Given the description of an element on the screen output the (x, y) to click on. 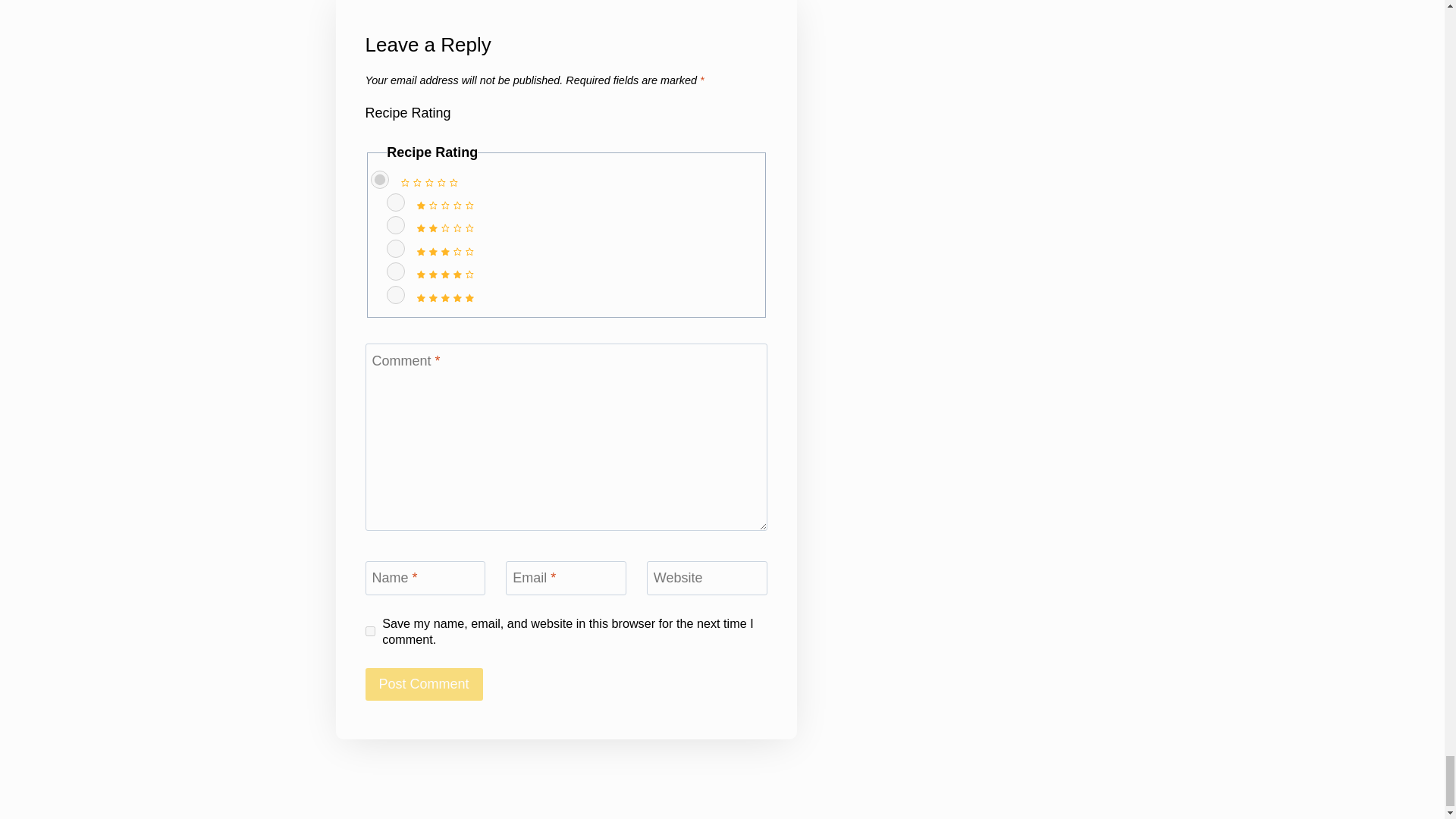
4 (395, 271)
5 (395, 294)
Post Comment (424, 684)
2 (395, 225)
3 (395, 248)
yes (370, 631)
Post Comment (424, 684)
0 (379, 179)
1 (395, 202)
